Given the description of an element on the screen output the (x, y) to click on. 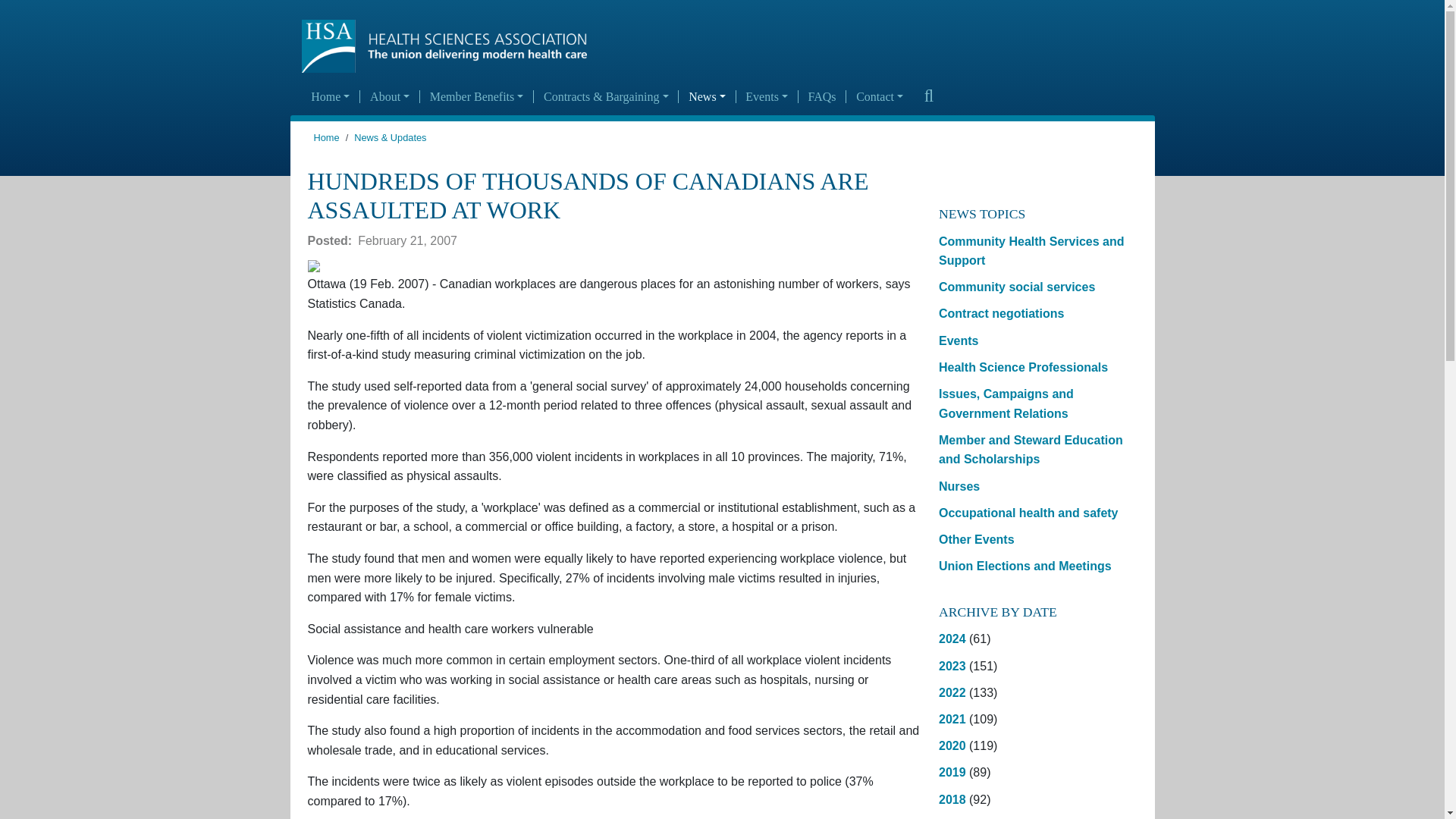
Expand menu Events (766, 97)
Home (449, 45)
About (389, 97)
Member Benefits (476, 97)
Home (330, 97)
Expand menu Contact (878, 97)
Expand menu About (389, 97)
Expand menu News (706, 97)
Expand menu Home (330, 97)
News (706, 97)
Expand menu Member Benefits (476, 97)
